Given the description of an element on the screen output the (x, y) to click on. 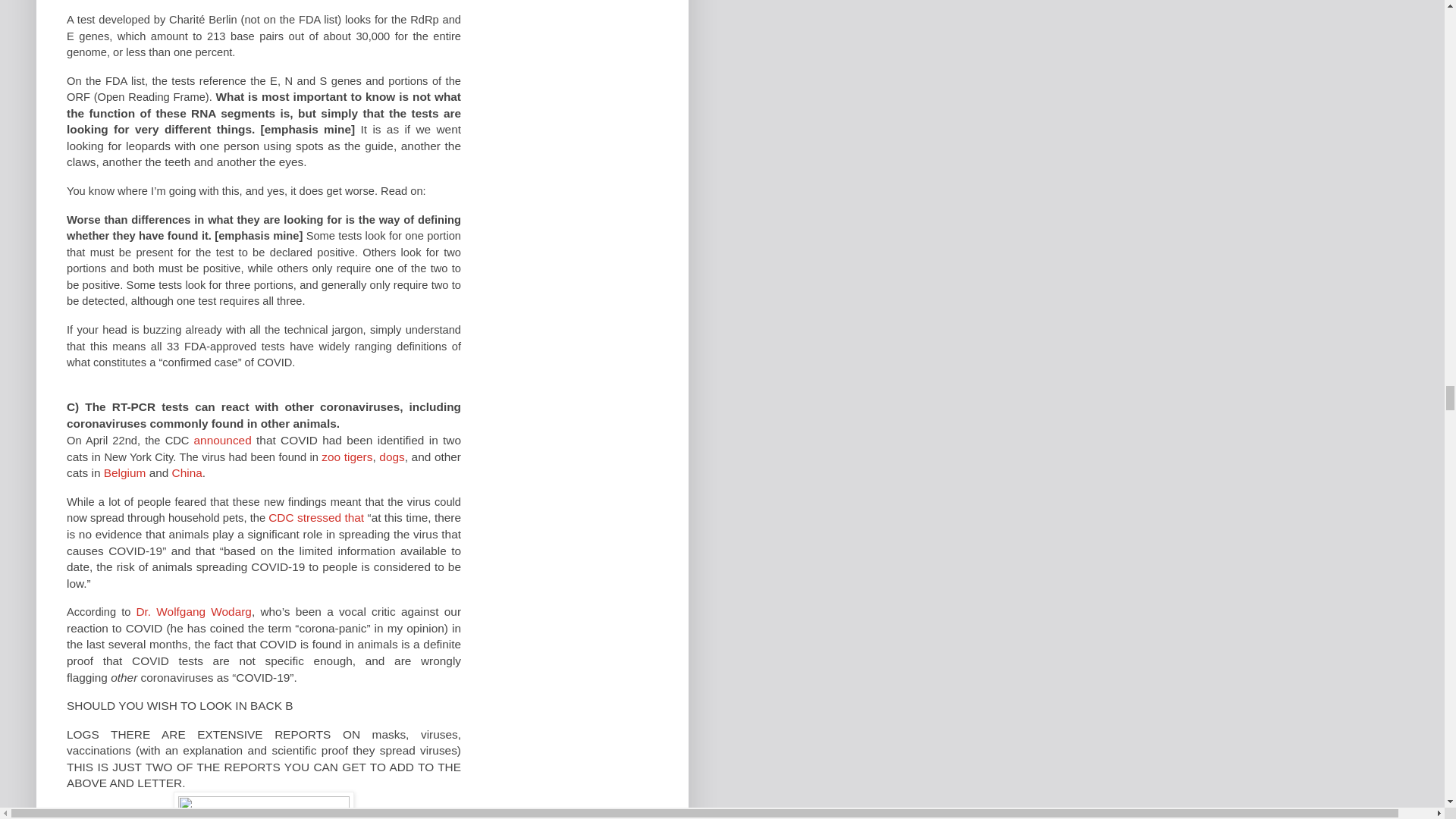
China (186, 472)
dogs (391, 456)
announced (222, 440)
Dr. Wolfgang Wodarg (192, 611)
CDC stressed that (315, 517)
Belgium (125, 472)
zoo tigers (346, 456)
